Given the description of an element on the screen output the (x, y) to click on. 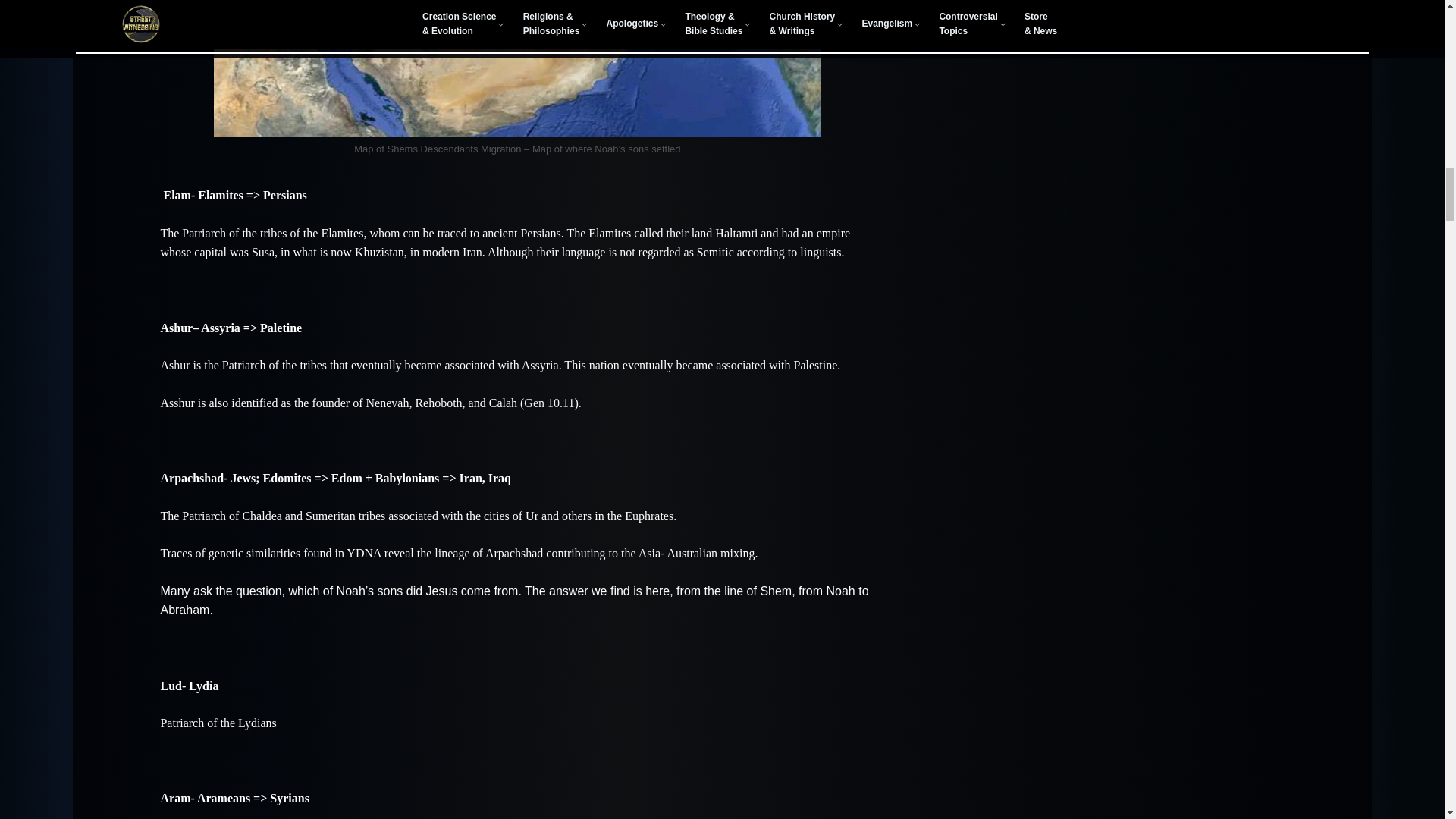
Fig.2 - Noah's Descendants (517, 68)
